Given the description of an element on the screen output the (x, y) to click on. 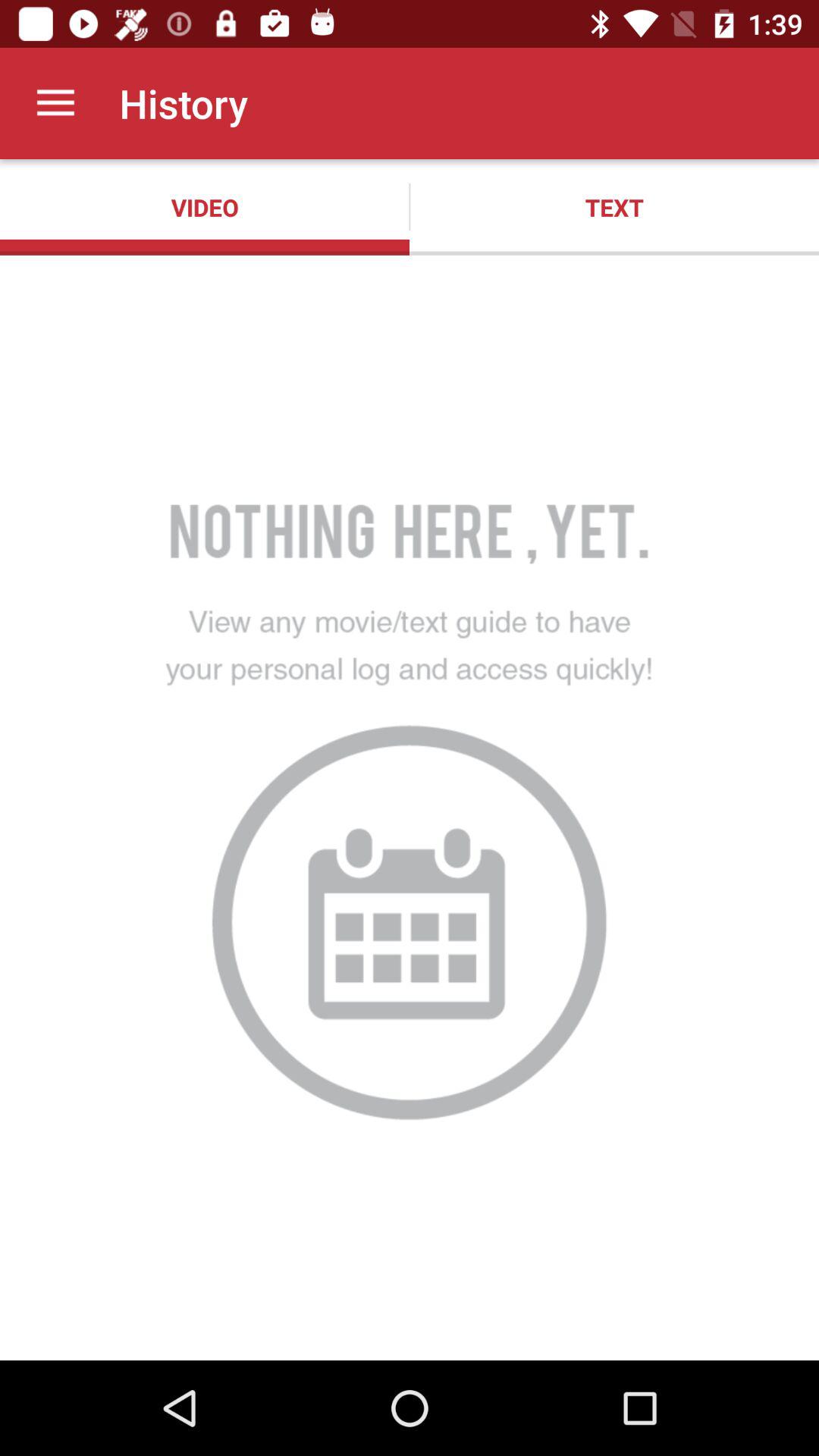
select the icon next to text app (204, 207)
